Given the description of an element on the screen output the (x, y) to click on. 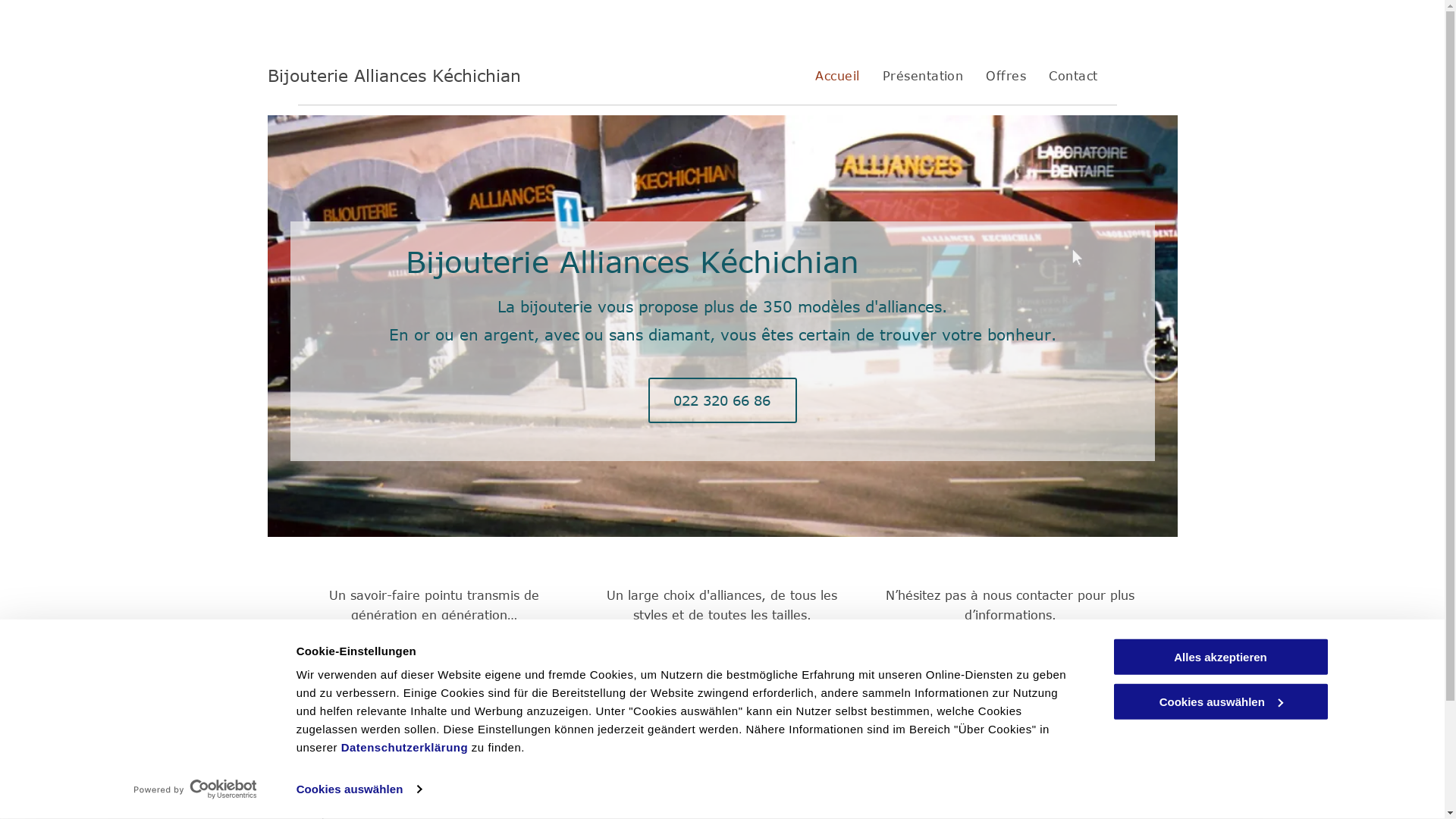
Offres Element type: text (1005, 75)
Contact Element type: text (1010, 673)
022 320 66 86 Element type: text (537, 795)
Accueil Element type: text (836, 75)
Contact Element type: text (1072, 75)
022 320 66 86 Element type: text (721, 400)
Offres Element type: text (721, 673)
Alles akzeptieren Element type: text (1219, 656)
